Given the description of an element on the screen output the (x, y) to click on. 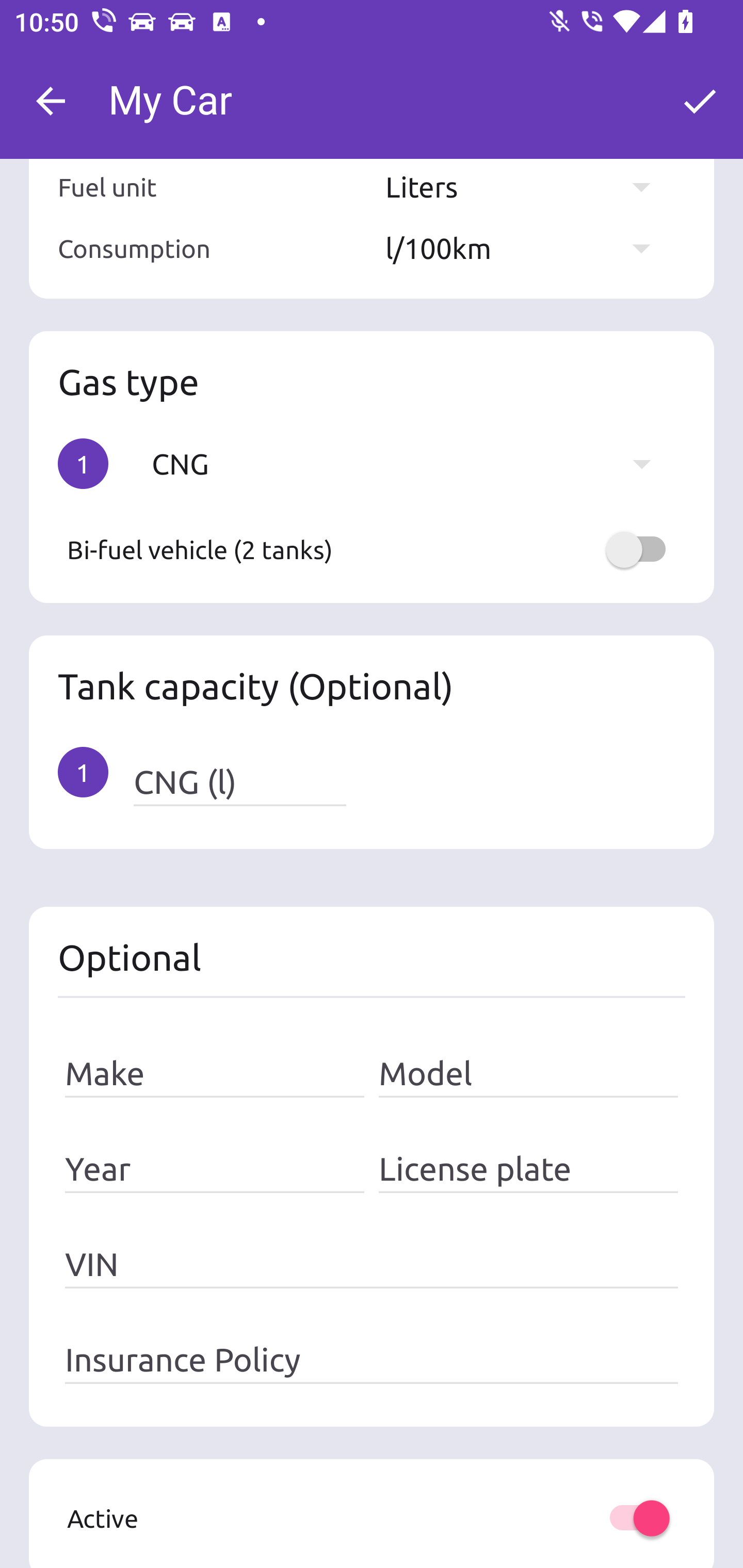
Navigate up (50, 101)
OK (699, 101)
Liters (527, 186)
l/100km (527, 247)
CNG (411, 463)
Bi-fuel vehicle (2 tanks) (371, 549)
CNG (l) (239, 782)
Make (214, 1073)
Model (528, 1073)
Year (214, 1169)
License plate (528, 1169)
VIN (371, 1265)
Insurance Policy (371, 1359)
Active (371, 1518)
